Given the description of an element on the screen output the (x, y) to click on. 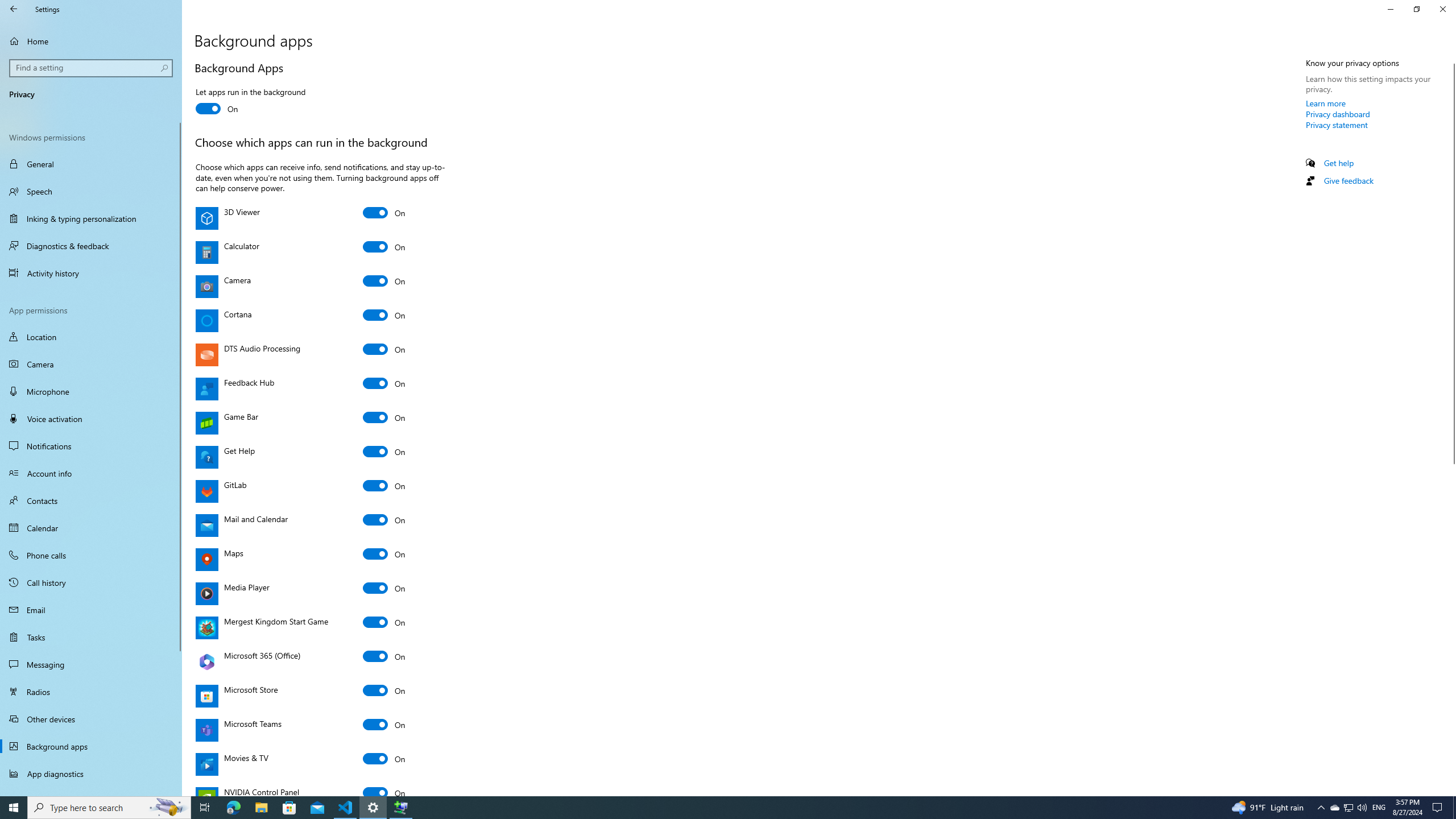
Back (13, 9)
Notification Chevron (1320, 807)
Get help (1338, 162)
Phone calls (91, 554)
Microsoft Edge (233, 807)
Privacy statement (1336, 124)
Microsoft Store (384, 690)
Search highlights icon opens search home window (167, 807)
Tasks (91, 636)
Restore Settings (1416, 9)
Search box, Find a setting (91, 67)
Give feedback (1348, 180)
Automatic file downloads (91, 791)
Microsoft 365 (Office) (384, 656)
Diagnostics & feedback (91, 245)
